Given the description of an element on the screen output the (x, y) to click on. 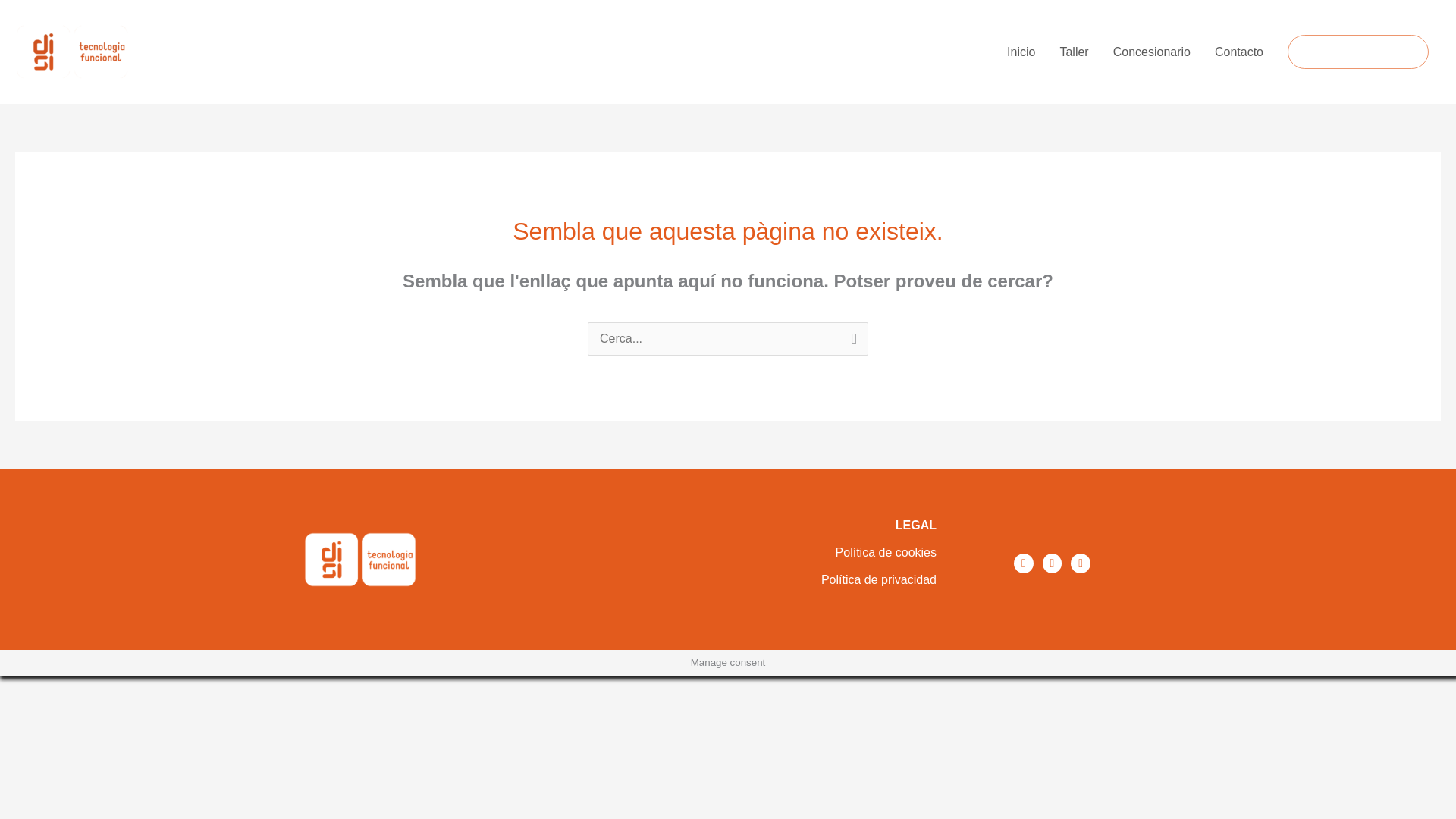
Envelope (1080, 563)
Empezar ahora (1357, 51)
Linkedin-in (1052, 563)
Contacto (1238, 51)
Inicio (1020, 51)
Whatsapp (1023, 563)
Taller (1073, 51)
Concesionario (1151, 51)
